Given the description of an element on the screen output the (x, y) to click on. 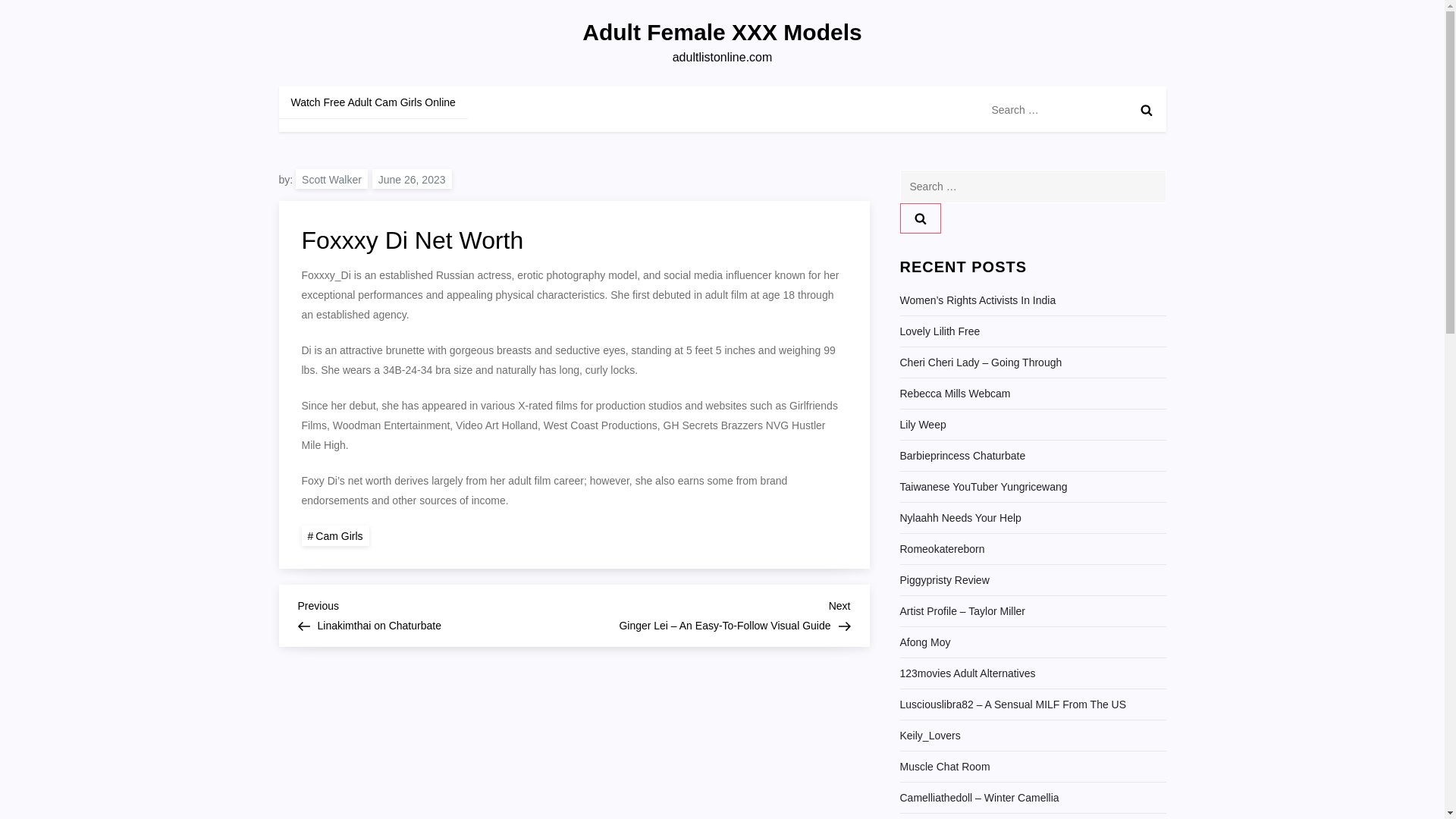
Romeokatereborn (941, 548)
Scott Walker (435, 613)
Adult Female XXX Models (331, 178)
Watch Free Adult Cam Girls Online (721, 32)
Muscle Chat Room (373, 101)
Search (944, 766)
Lily Weep (919, 218)
123movies Adult Alternatives (921, 424)
Taiwanese YouTuber Yungricewang (967, 673)
